Given the description of an element on the screen output the (x, y) to click on. 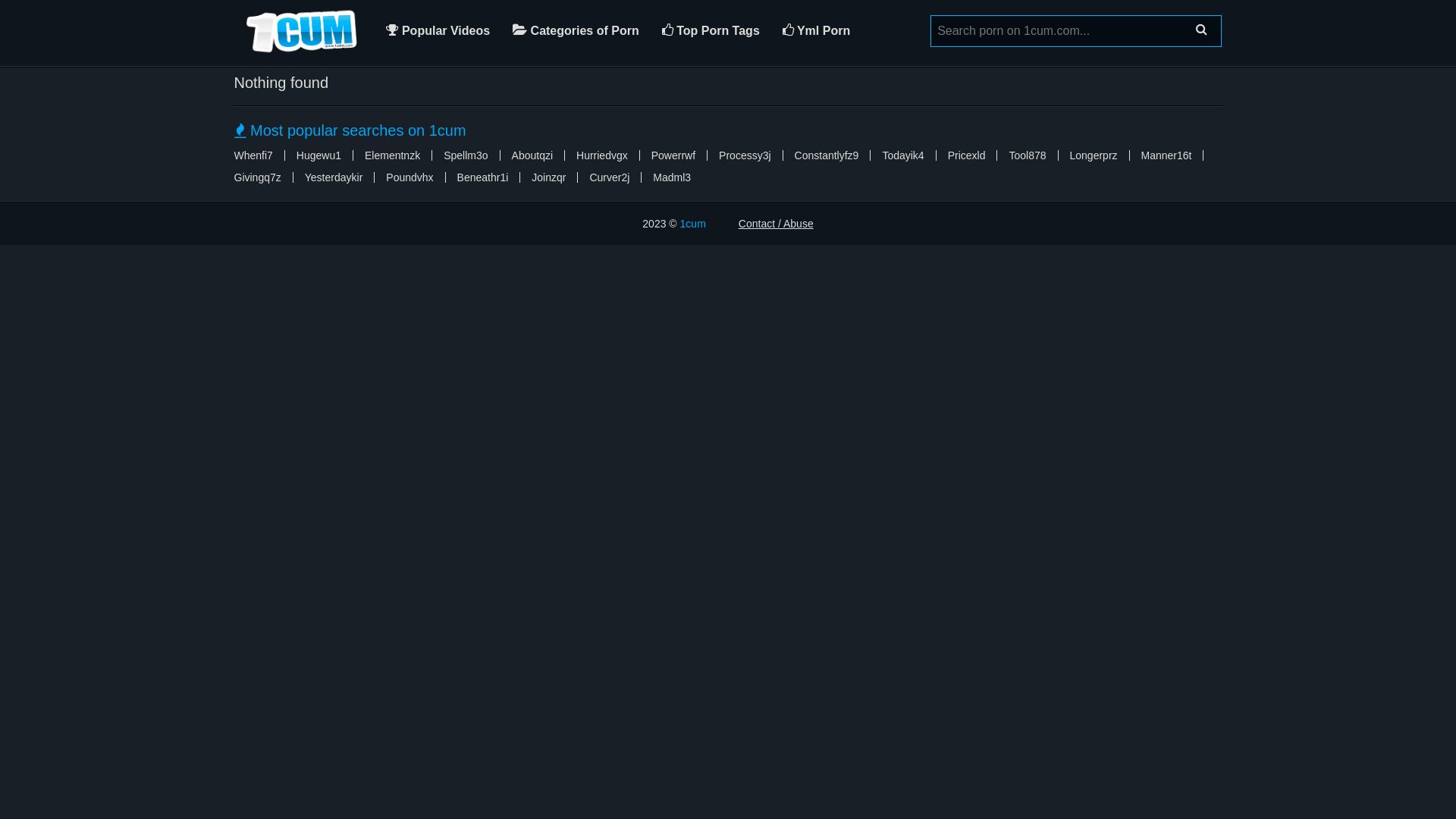
Hugewu1 Element type: text (318, 155)
Todayik4 Element type: text (902, 155)
Aboutqzi Element type: text (531, 155)
Manner16t Element type: text (1166, 155)
Whenfi7 Element type: text (252, 155)
Hurriedvgx Element type: text (601, 155)
Elementnzk Element type: text (392, 155)
Givingq7z Element type: text (256, 177)
Search Element type: hover (1200, 29)
Powerrwf Element type: text (673, 155)
Yesterdaykir Element type: text (333, 177)
Joinzqr Element type: text (548, 177)
Poundvhx Element type: text (409, 177)
Spellm3o Element type: text (465, 155)
Processy3j Element type: text (744, 155)
Tool878 Element type: text (1026, 155)
Top Porn Tags Element type: text (710, 30)
Beneathr1i Element type: text (482, 177)
Pricexld Element type: text (966, 155)
Yml Porn Element type: text (816, 30)
Constantlyfz9 Element type: text (826, 155)
Longerprz Element type: text (1093, 155)
Madml3 Element type: text (671, 177)
Categories of Porn Element type: text (575, 30)
Popular Videos Element type: text (437, 30)
Curver2j Element type: text (609, 177)
Contact / Abuse Element type: text (775, 223)
